Given the description of an element on the screen output the (x, y) to click on. 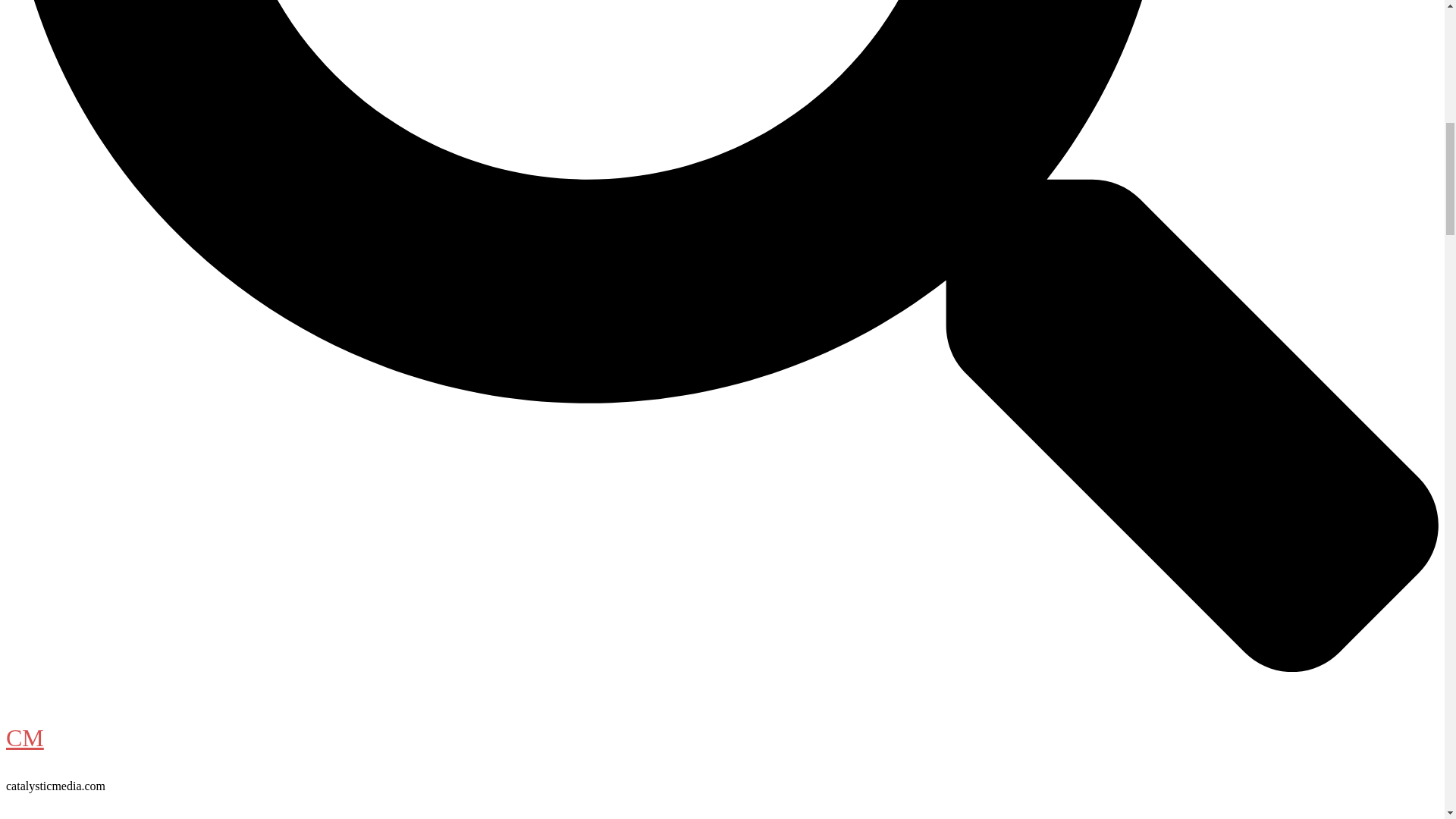
CM (24, 737)
